Given the description of an element on the screen output the (x, y) to click on. 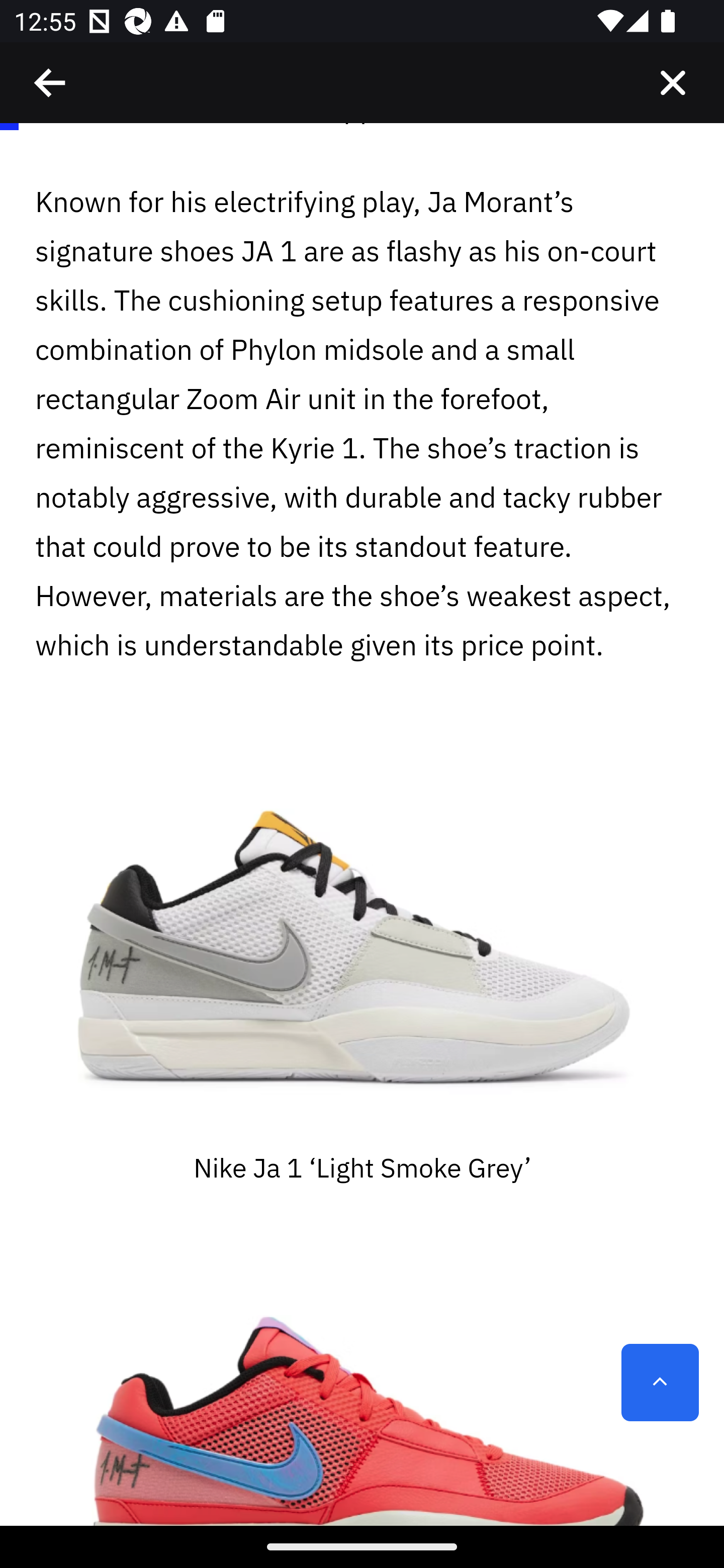
 (50, 83)
 (672, 83)
Nike Ja 1 'Light Smoke Grey' DR8785‑100 DR8786‑100 (361, 939)
Nike Ja 1 EP 'Fuel' DR8786‑800 (361, 1376)
Scroll to top  (659, 1382)
